Given the description of an element on the screen output the (x, y) to click on. 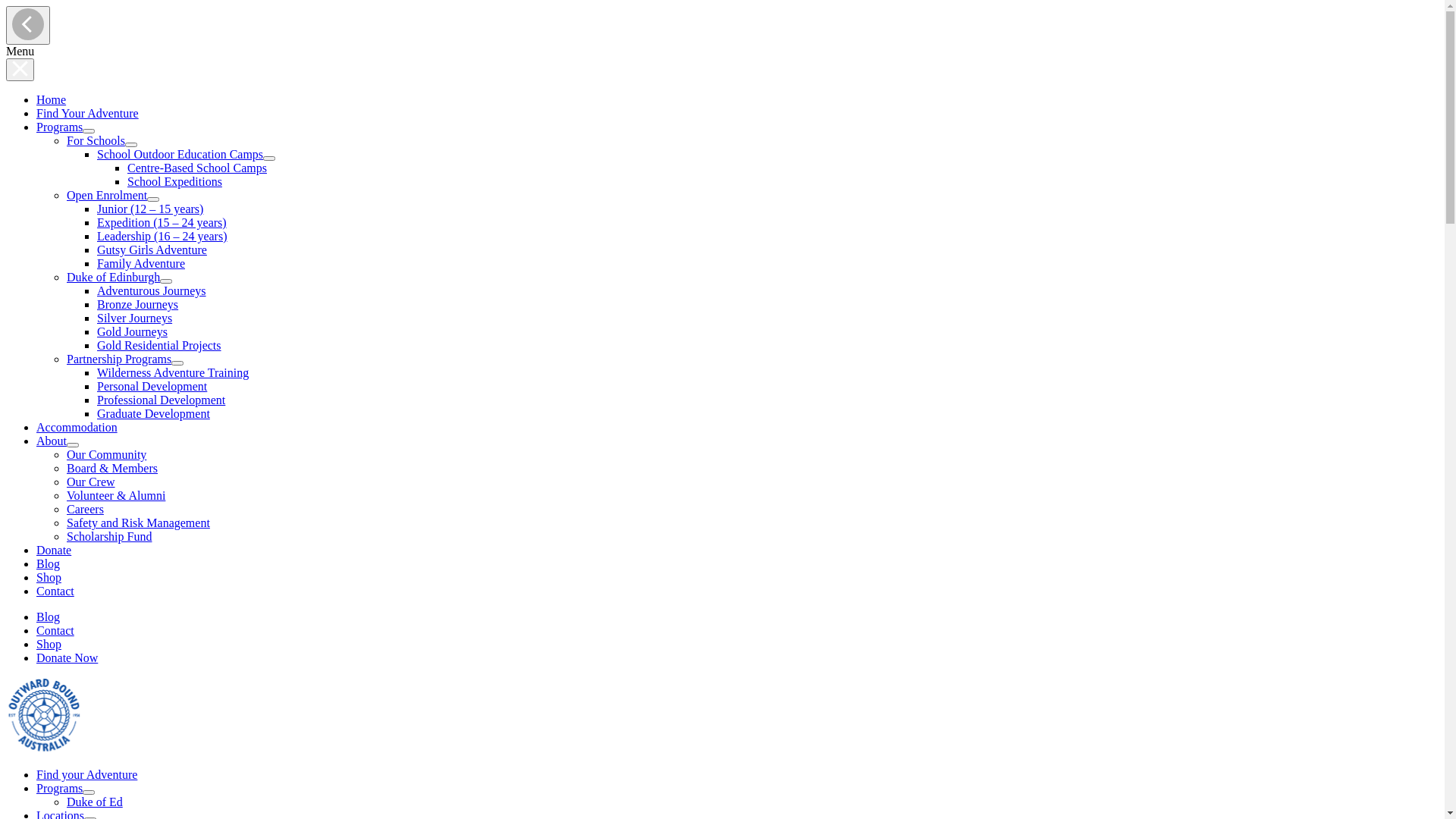
Gold Residential Projects Element type: text (159, 344)
Family Adventure Element type: text (141, 263)
Bronze Journeys Element type: text (137, 304)
Duke of Edinburgh Element type: text (119, 276)
Our Community Element type: text (106, 454)
Safety and Risk Management Element type: text (138, 522)
About Element type: text (57, 440)
Blog Element type: text (47, 563)
Careers Element type: text (84, 508)
Professional Development Element type: text (161, 399)
School Expeditions Element type: text (174, 181)
Board & Members Element type: text (111, 467)
Wilderness Adventure Training Element type: text (172, 372)
Volunteer & Alumni Element type: text (115, 495)
Our Crew Element type: text (90, 481)
Adventurous Journeys Element type: text (151, 290)
Shop Element type: text (48, 577)
Open Enrolment Element type: text (112, 194)
Graduate Development Element type: text (153, 413)
Programs Element type: text (65, 126)
Blog Element type: text (47, 616)
Contact Element type: text (55, 590)
Home Element type: text (50, 99)
School Outdoor Education Camps Element type: text (186, 153)
Partnership Programs Element type: text (124, 358)
Contact Element type: text (55, 630)
Silver Journeys Element type: text (134, 317)
Scholarship Fund Element type: text (108, 536)
Gold Journeys Element type: text (132, 331)
Centre-Based School Camps Element type: text (196, 167)
Personal Development Element type: text (152, 385)
Duke of Ed Element type: text (94, 801)
Donate Now Element type: text (66, 657)
Find Your Adventure Element type: text (87, 112)
Programs Element type: text (65, 787)
Donate Element type: text (53, 549)
Accommodation Element type: text (76, 426)
For Schools Element type: text (101, 140)
Find your Adventure Element type: text (86, 774)
Gutsy Girls Adventure Element type: text (152, 249)
Shop Element type: text (48, 643)
